Given the description of an element on the screen output the (x, y) to click on. 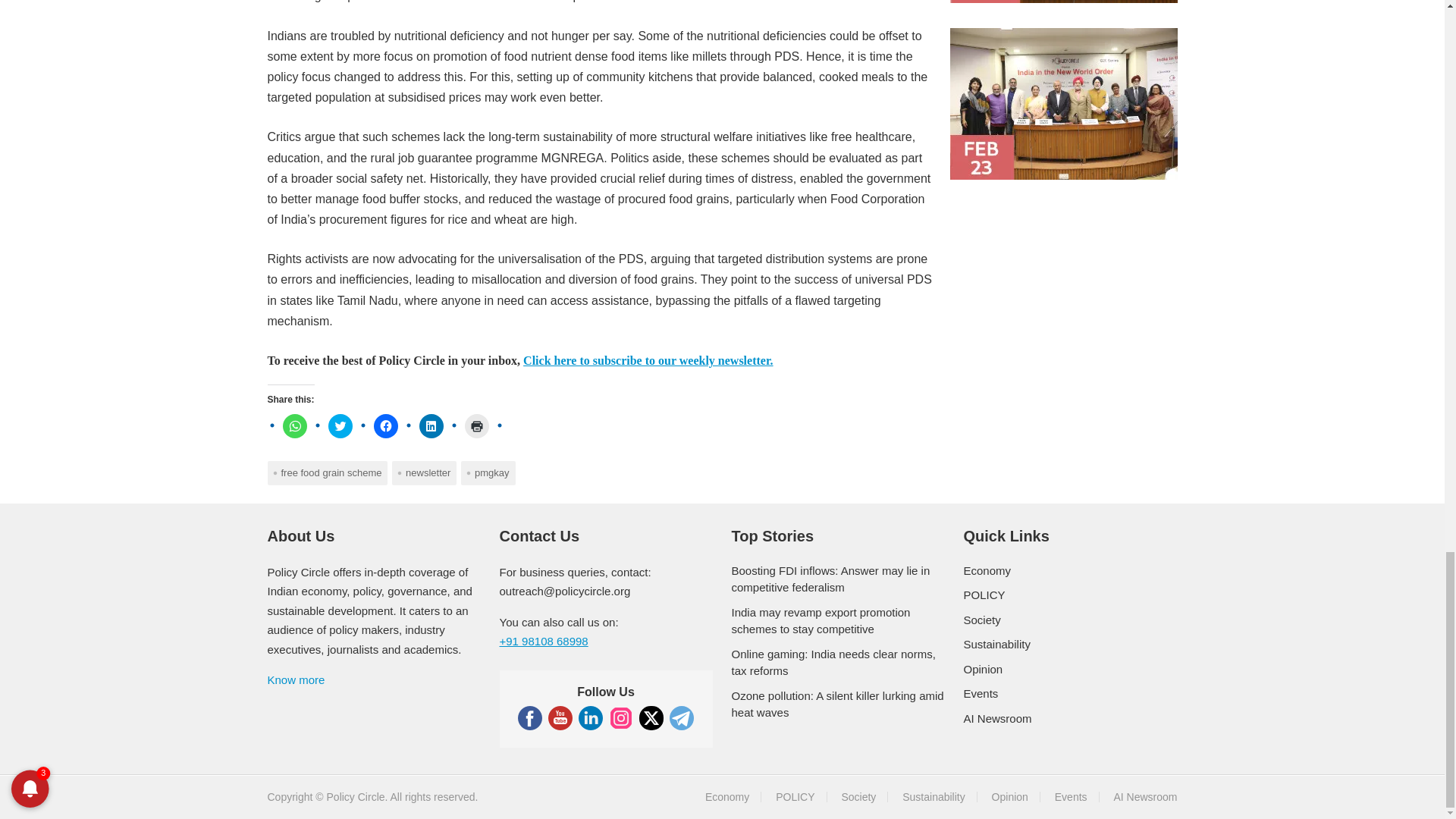
Click to share on WhatsApp (293, 426)
Click to share on Twitter (339, 426)
Click to print (475, 426)
Click to share on Facebook (384, 426)
Click to share on LinkedIn (430, 426)
